Given the description of an element on the screen output the (x, y) to click on. 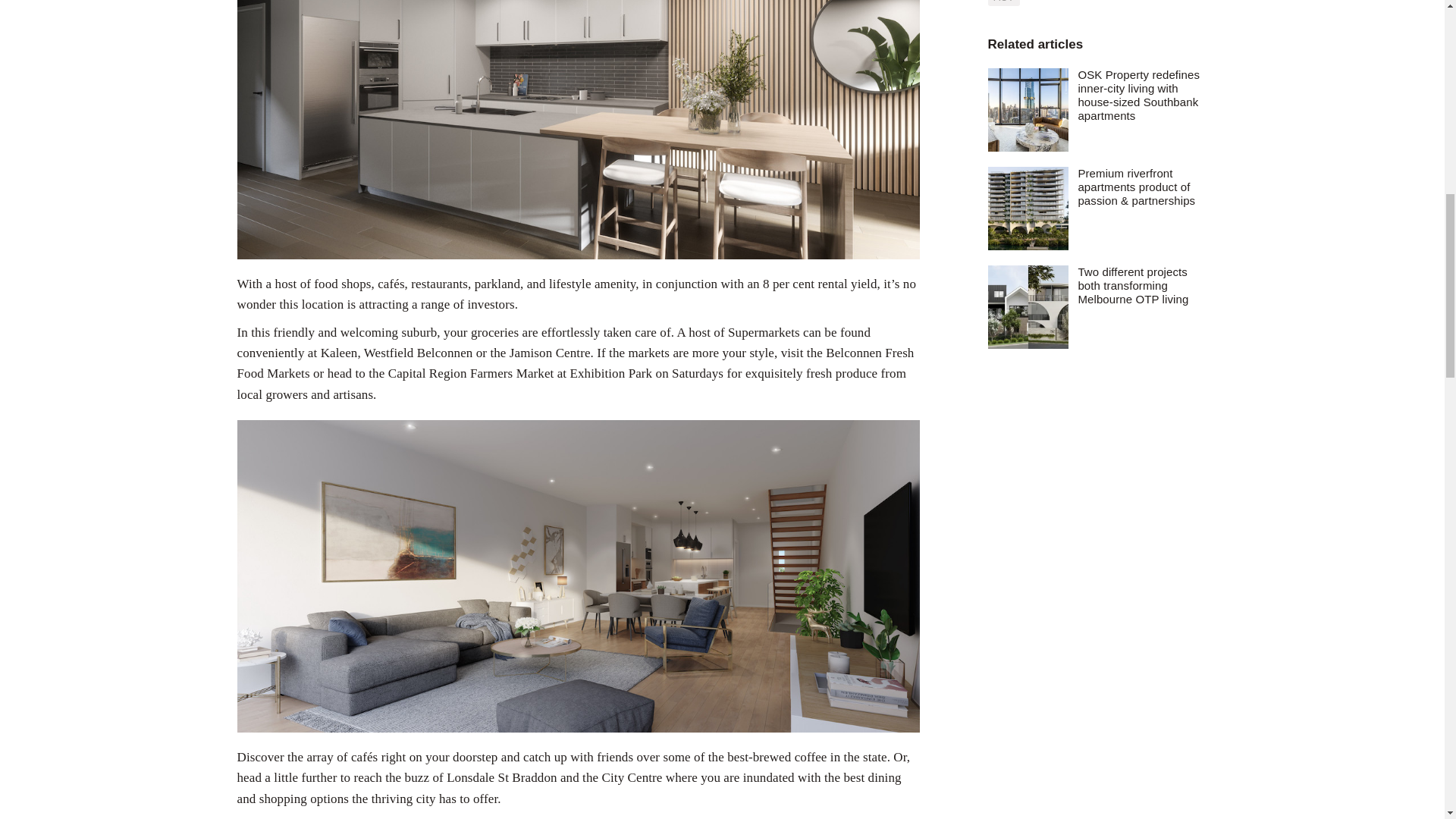
ACT (1003, 2)
